Given the description of an element on the screen output the (x, y) to click on. 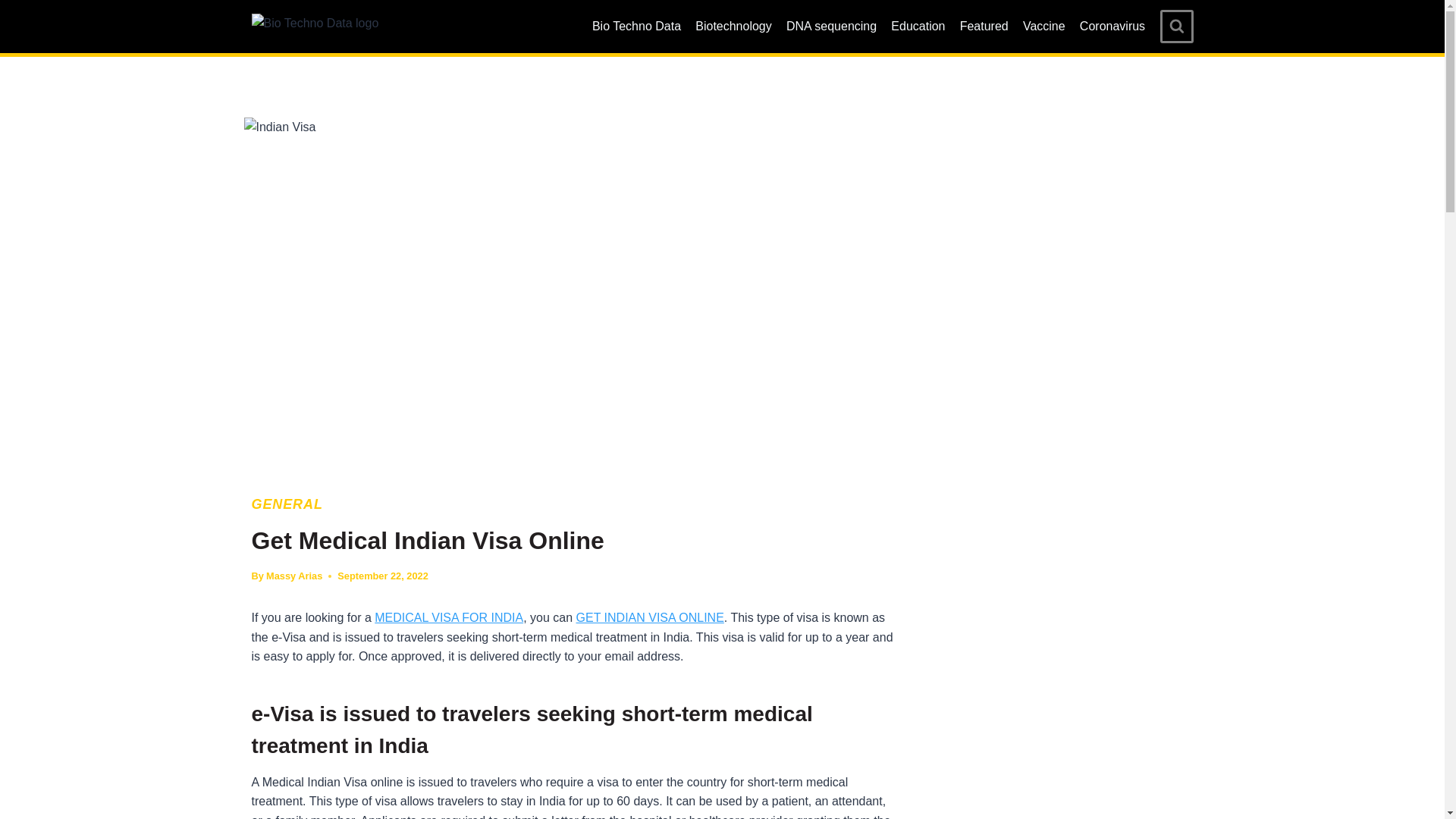
Vaccine (1042, 26)
GET INDIAN VISA ONLINE (649, 617)
Education (917, 26)
Bio Techno Data (636, 26)
Featured (983, 26)
Massy Arias (293, 575)
Biotechnology (733, 26)
DNA sequencing (830, 26)
Coronavirus (1111, 26)
GENERAL (287, 503)
MEDICAL VISA FOR INDIA (448, 617)
